Given the description of an element on the screen output the (x, y) to click on. 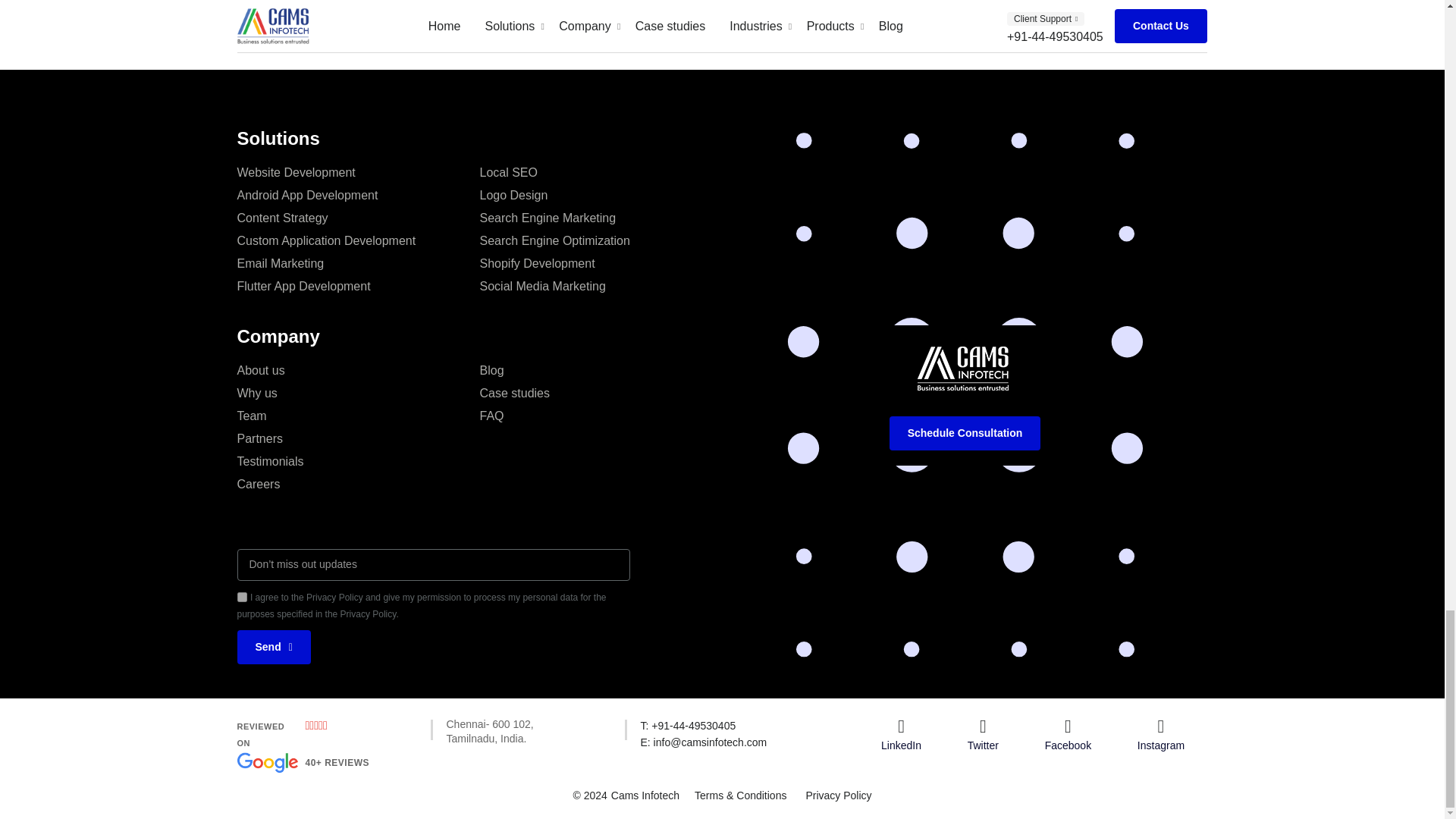
on (600, 427)
